Given the description of an element on the screen output the (x, y) to click on. 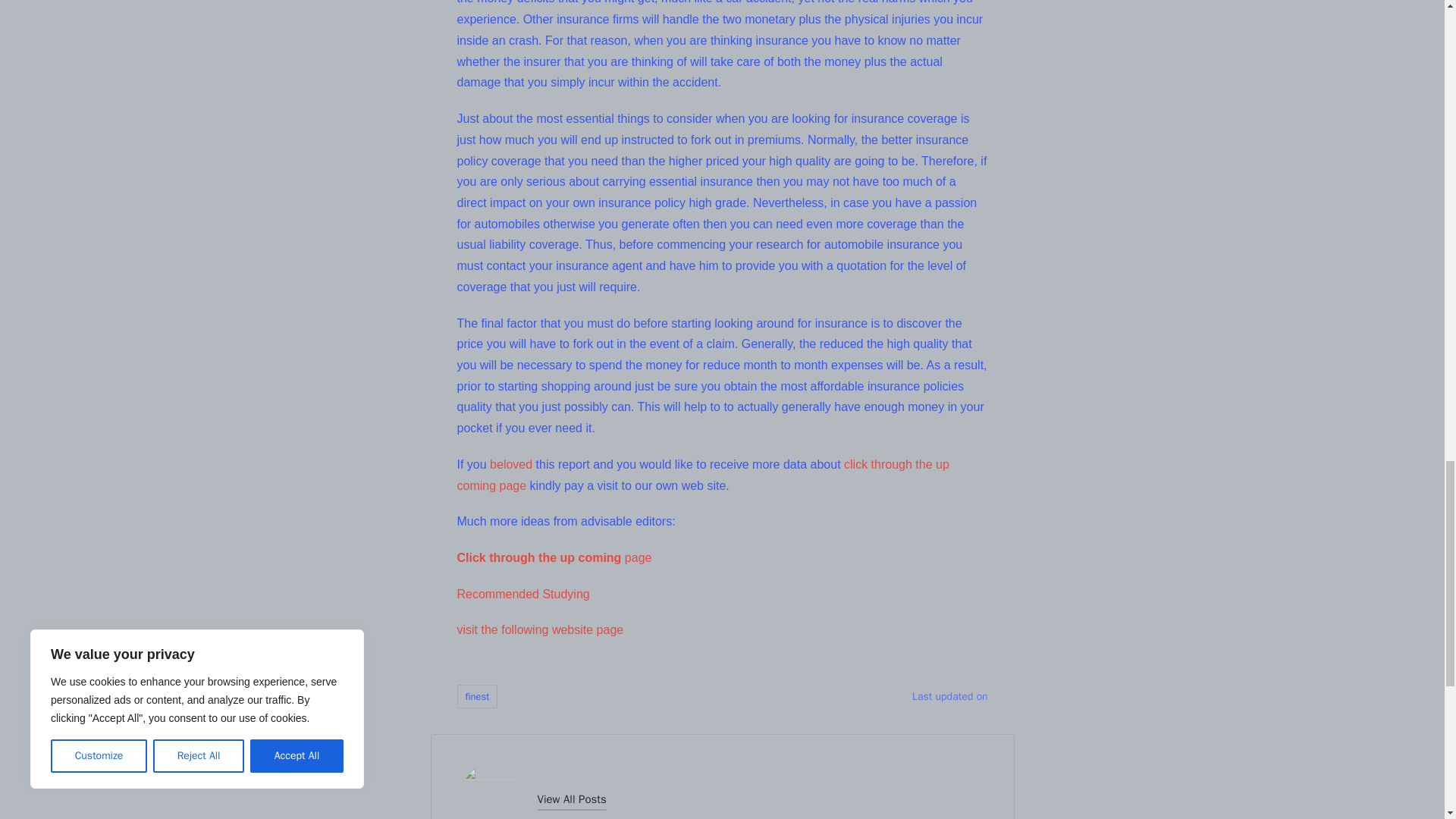
View All Posts (571, 799)
visit the following website page (540, 629)
click through the up coming page (703, 474)
Recommended Studying (523, 594)
beloved (510, 463)
Click through the up coming page (553, 557)
finest (477, 696)
